Given the description of an element on the screen output the (x, y) to click on. 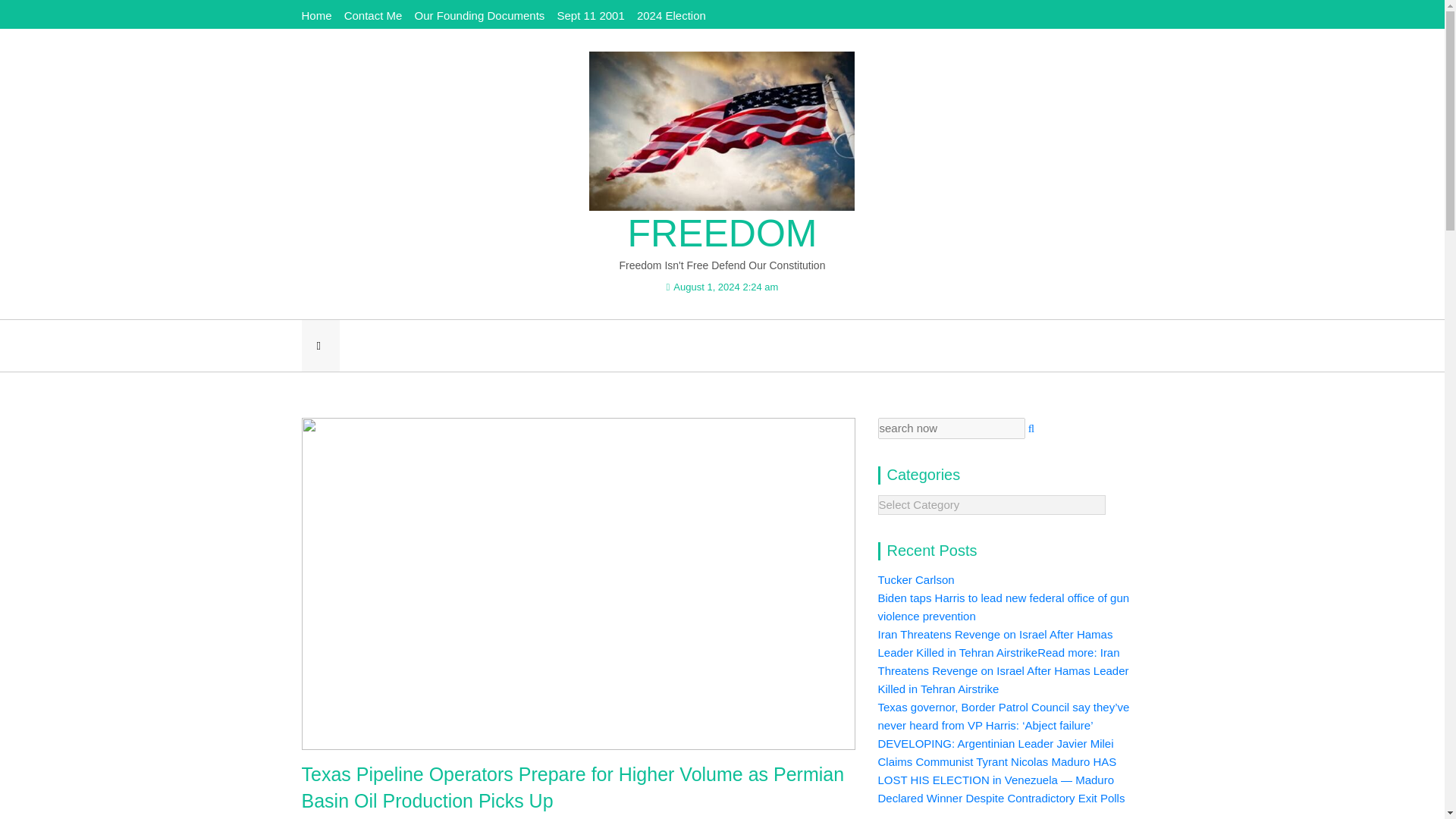
Sept 11 2001 (590, 15)
Our Founding Documents (479, 15)
Home (316, 15)
FREEDOM (721, 233)
Contact Me (373, 15)
2024 Election (671, 15)
